Given the description of an element on the screen output the (x, y) to click on. 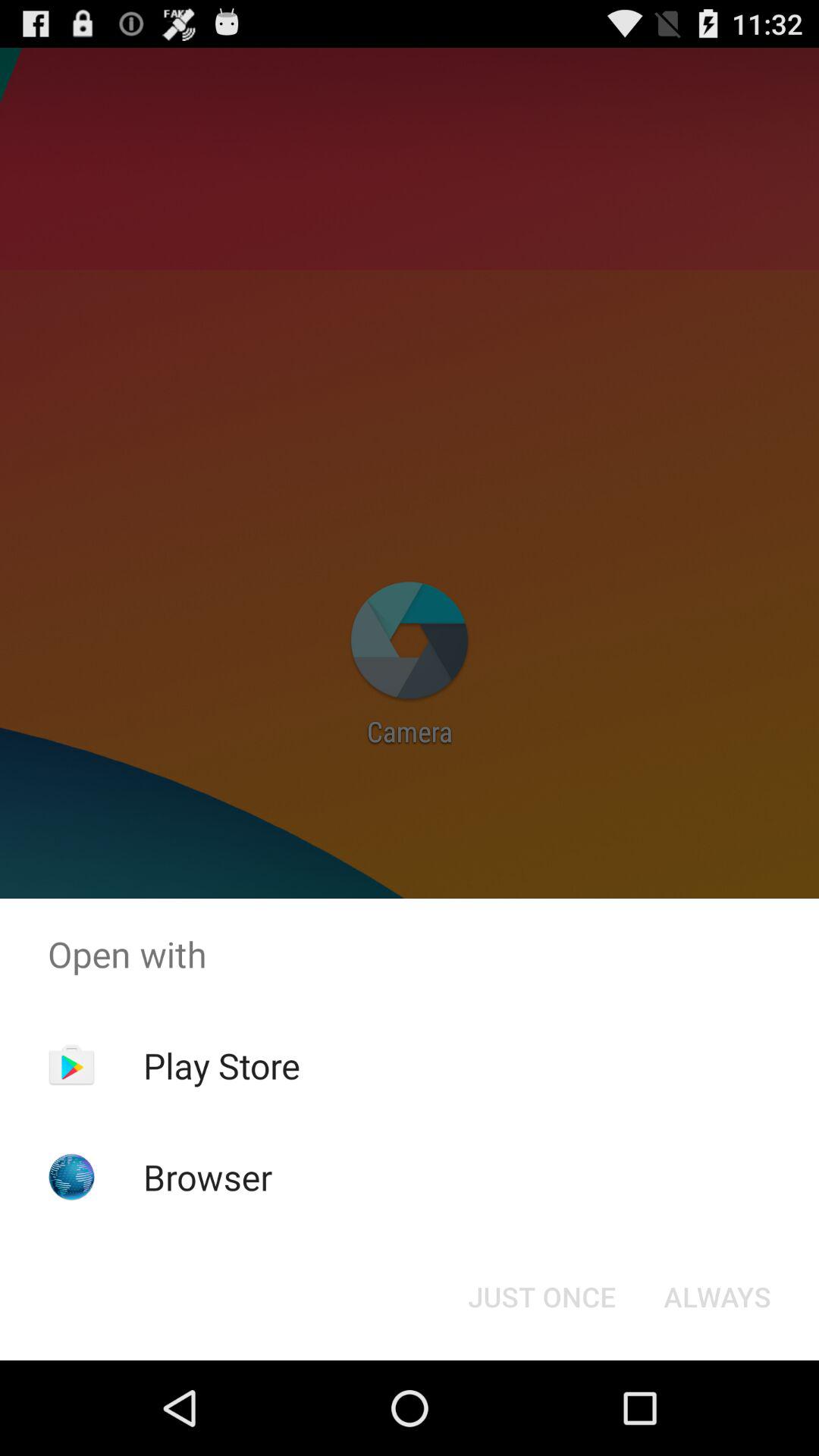
launch the app above the browser app (221, 1065)
